Given the description of an element on the screen output the (x, y) to click on. 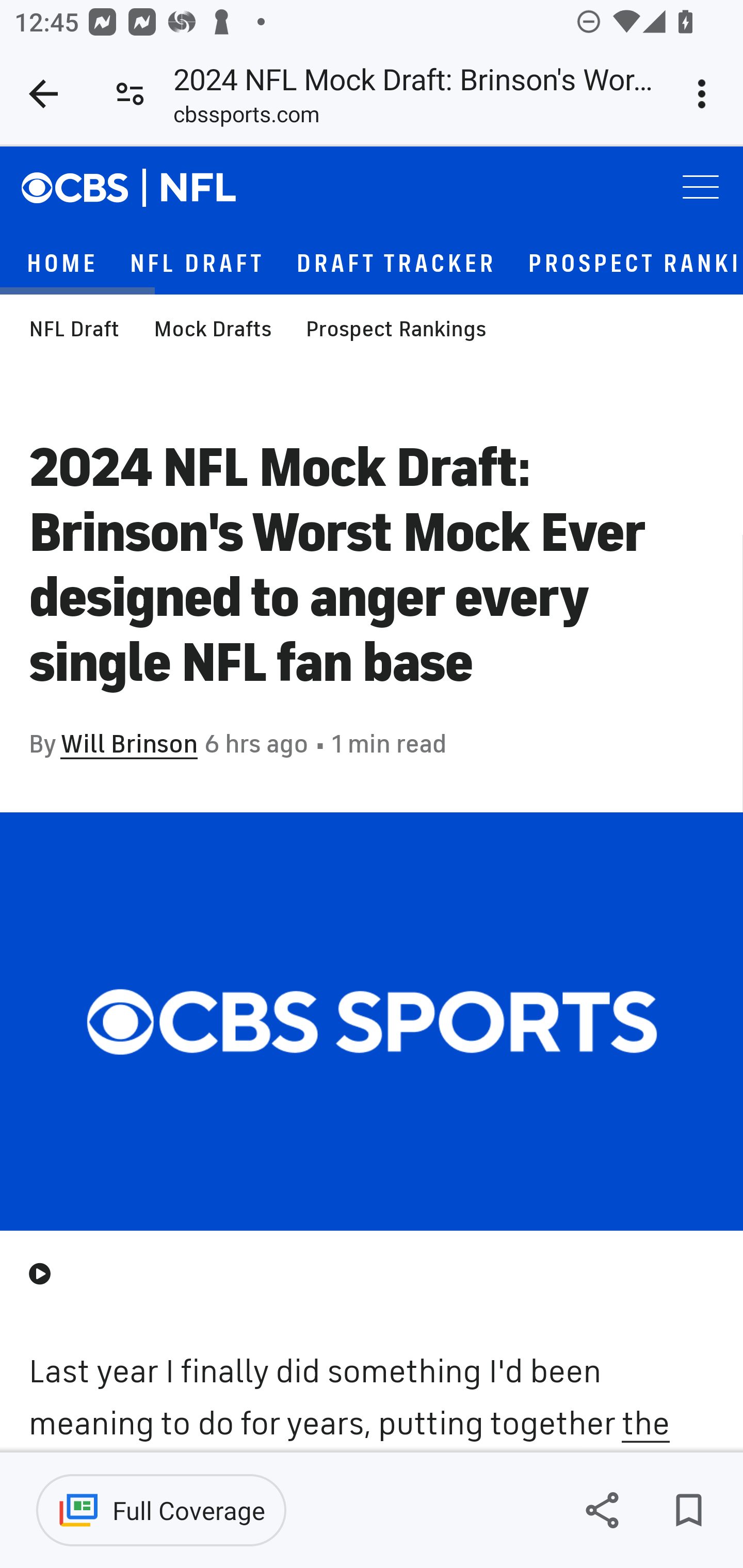
Close tab (43, 93)
Customize and control Google Chrome (705, 93)
Connection is secure (129, 93)
cbssports.com (246, 117)
 (85, 185)
 (199, 186)
HOME (61, 263)
NFL DRAFT (197, 263)
DRAFT TRACKER (396, 263)
PROSPECT RANKINGS (635, 263)
NFL Draft (74, 328)
Mock Drafts (211, 328)
Prospect Rankings (395, 328)
Will Brinson (128, 743)
the WORST MOCK DRAFT EVER (349, 1423)
Full Coverage (161, 1509)
Share (601, 1510)
Save for later (688, 1510)
